Given the description of an element on the screen output the (x, y) to click on. 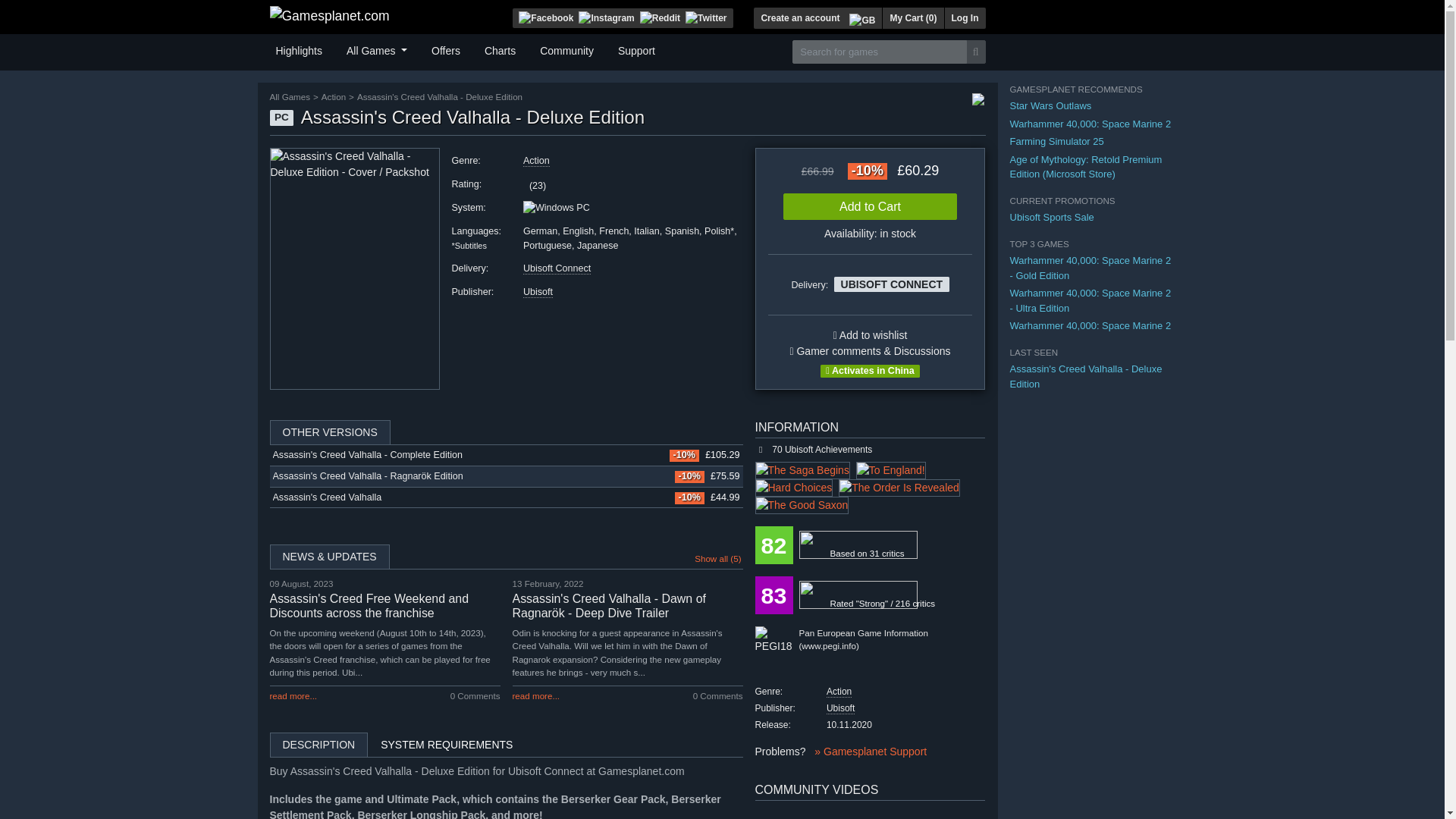
Create an account (800, 17)
OTHER VERSIONS (505, 432)
Log In (964, 17)
Achievement: To England! (891, 470)
Achievement: The Saga Begins (802, 470)
Achievement: Hard Choices (793, 487)
Achievement: The Good Saxon (801, 505)
All Games (376, 48)
Achievement: The Order Is Revealed (898, 487)
Highlights (299, 48)
